Given the description of an element on the screen output the (x, y) to click on. 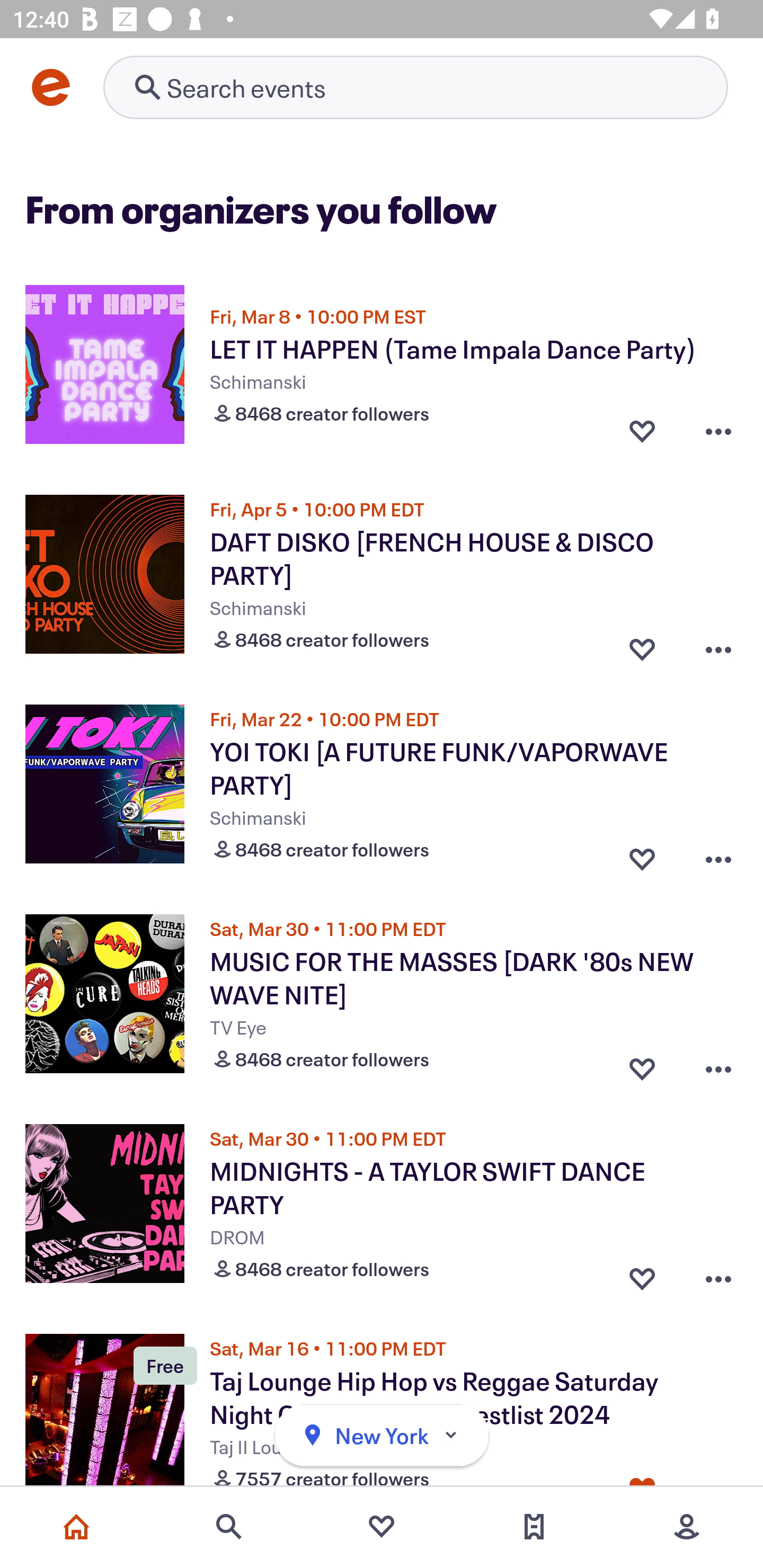
Retry's image Search events (415, 86)
Favorite button (642, 430)
Overflow menu button (718, 430)
Favorite button (642, 644)
Overflow menu button (718, 644)
Favorite button (642, 855)
Overflow menu button (718, 855)
Favorite button (642, 1065)
Overflow menu button (718, 1065)
Favorite button (642, 1274)
Overflow menu button (718, 1274)
New York (381, 1435)
Home (76, 1526)
Search events (228, 1526)
Favorites (381, 1526)
Tickets (533, 1526)
More (686, 1526)
